Given the description of an element on the screen output the (x, y) to click on. 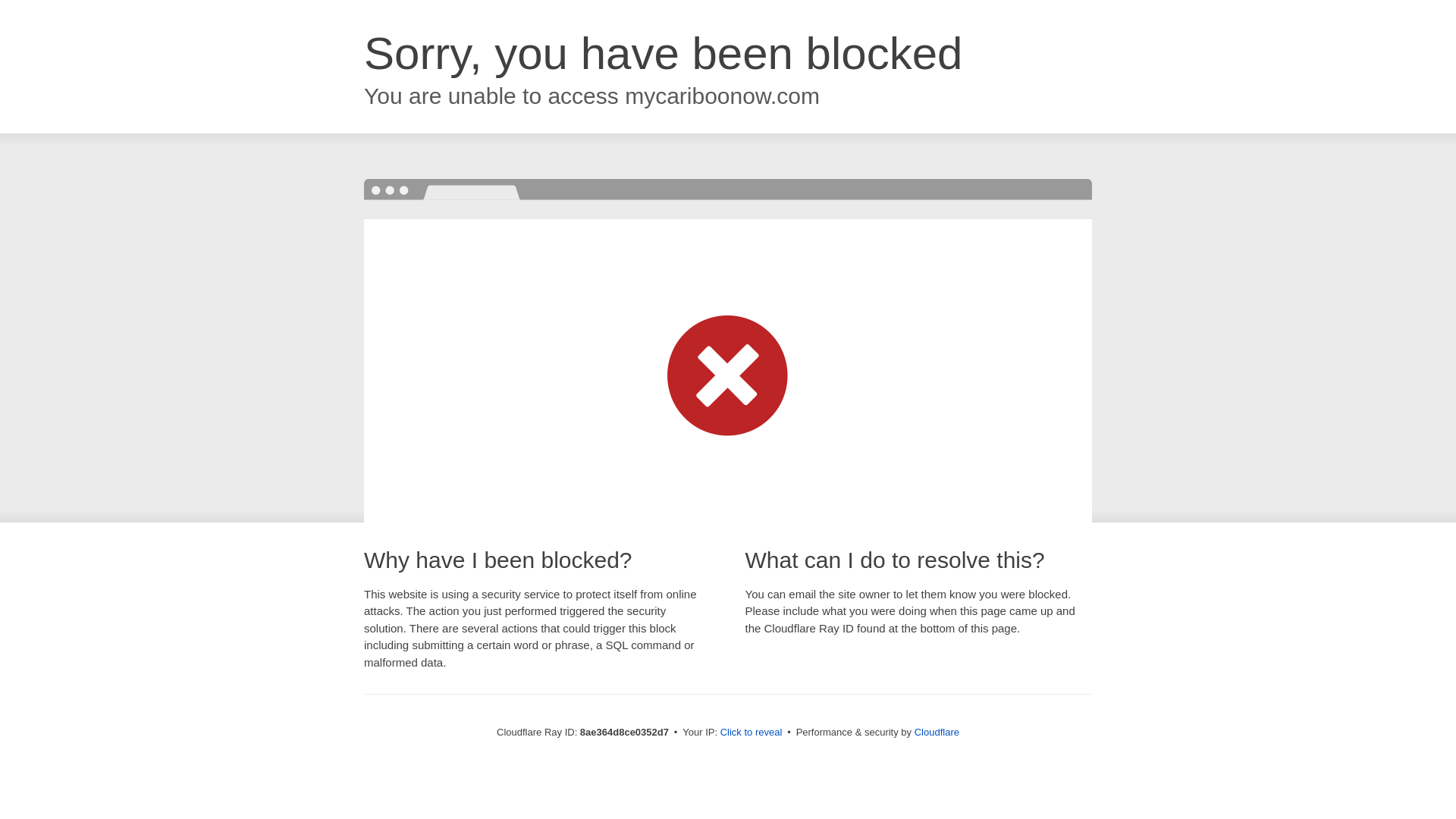
Cloudflare (936, 731)
Click to reveal (751, 732)
